Given the description of an element on the screen output the (x, y) to click on. 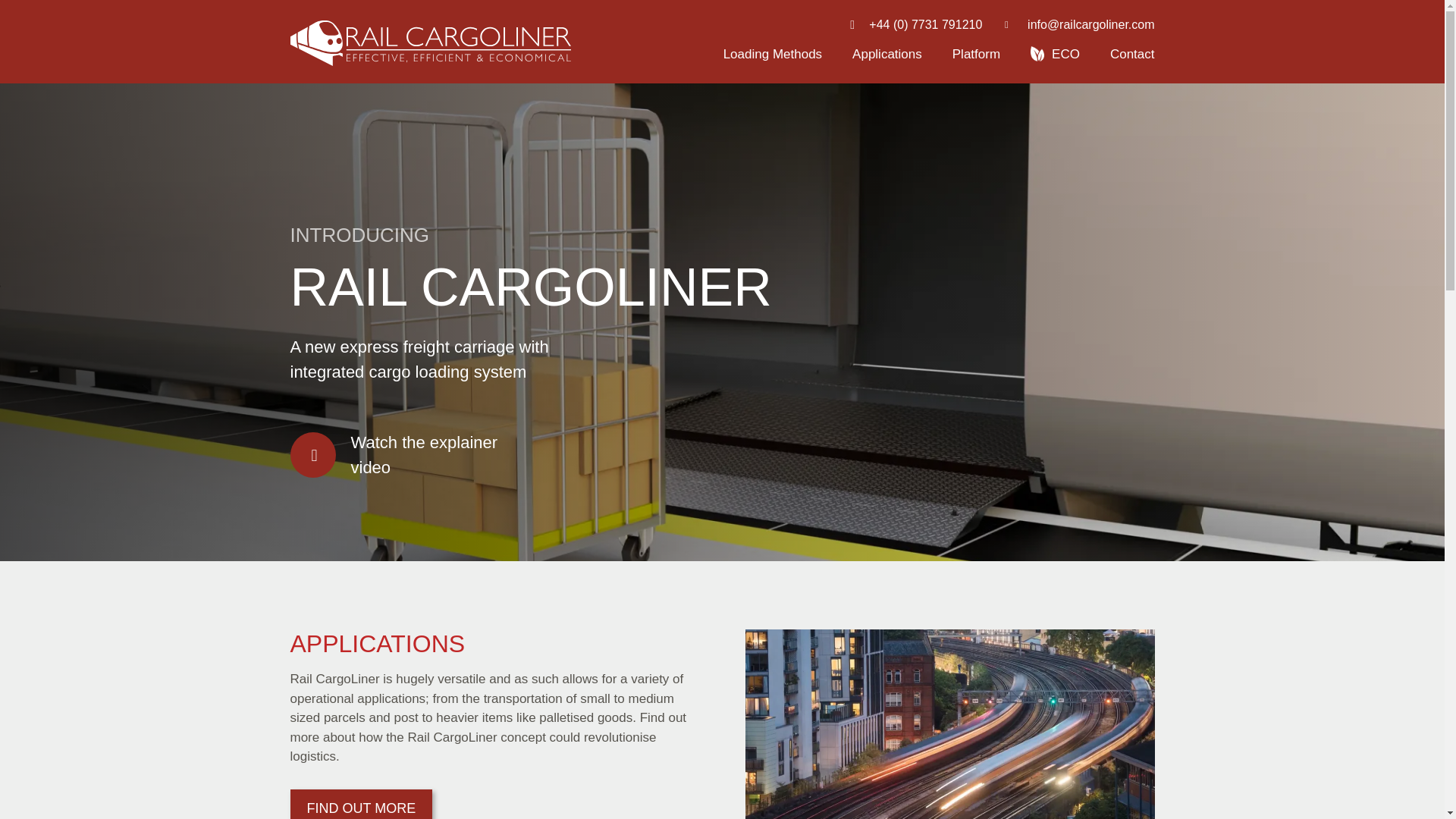
Applications (886, 52)
Platform (976, 52)
Watch the explainer video (395, 454)
Rail CargoLiner (429, 43)
Contact (1131, 52)
FIND OUT MORE (360, 804)
Loading Methods (772, 52)
ECO (1065, 52)
